Given the description of an element on the screen output the (x, y) to click on. 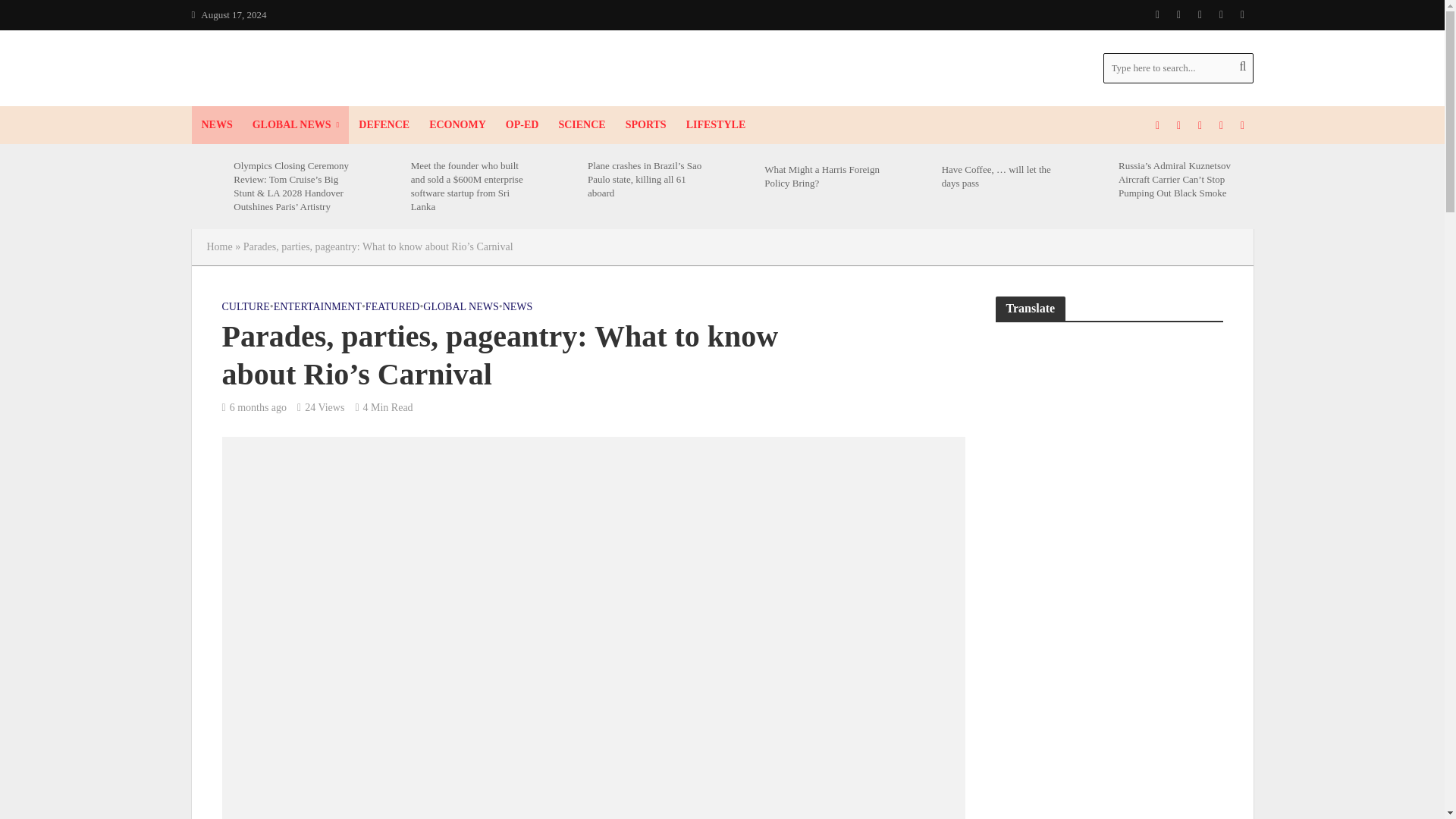
NEWS (215, 125)
GLOBAL NEWS (296, 125)
What Might a Harris Foreign Policy Bring? (739, 176)
